Given the description of an element on the screen output the (x, y) to click on. 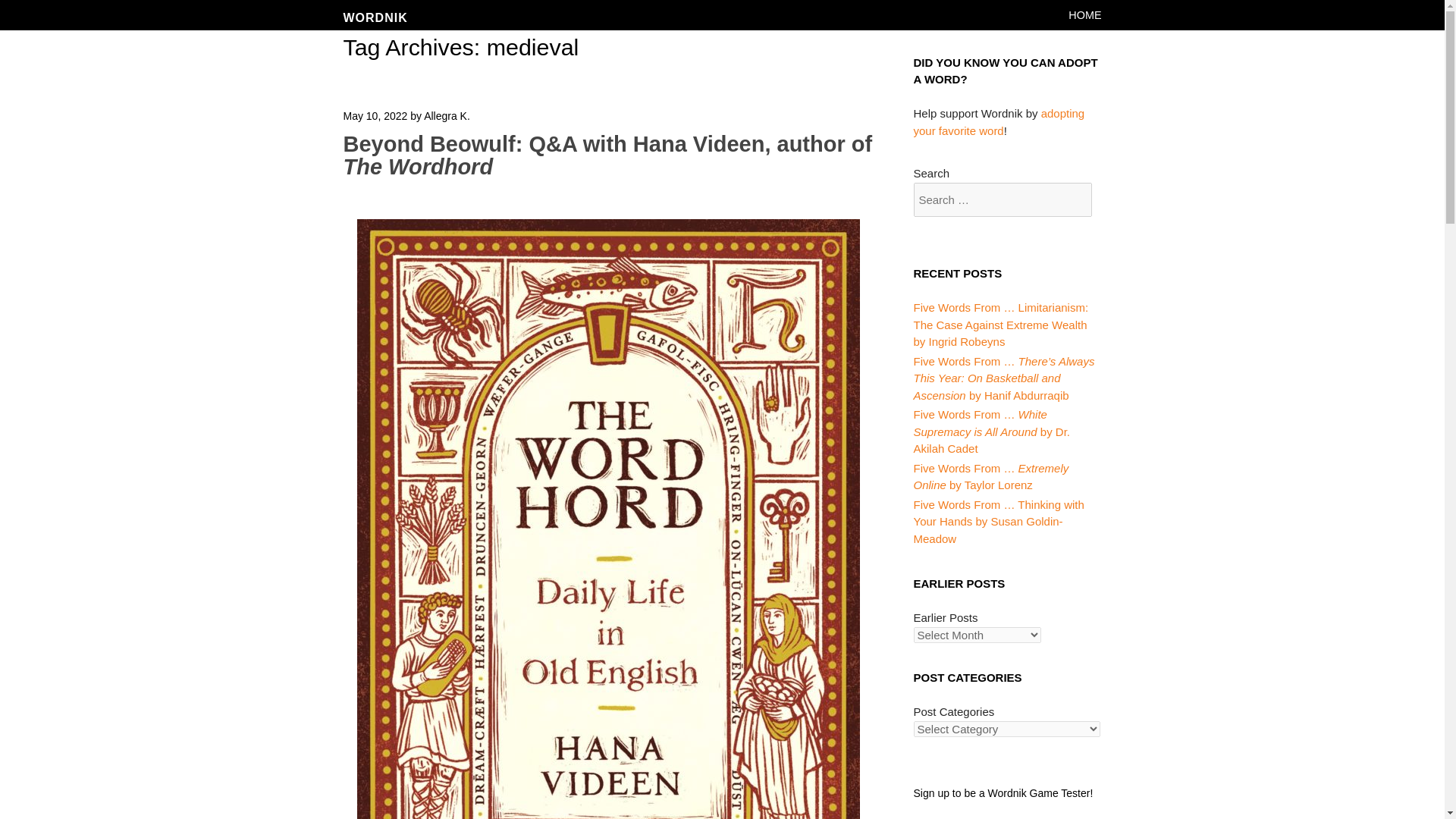
11:15 am (374, 115)
May 10, 2022 (374, 115)
SKIP TO CONTENT (1098, 15)
Allegra K. (446, 115)
Skip to content (1098, 15)
Wordnik (374, 17)
WORDNIK (374, 17)
HOME (1084, 15)
View all posts by Allegra K. (446, 115)
Search (46, 9)
adopting your favorite word (998, 122)
